Given the description of an element on the screen output the (x, y) to click on. 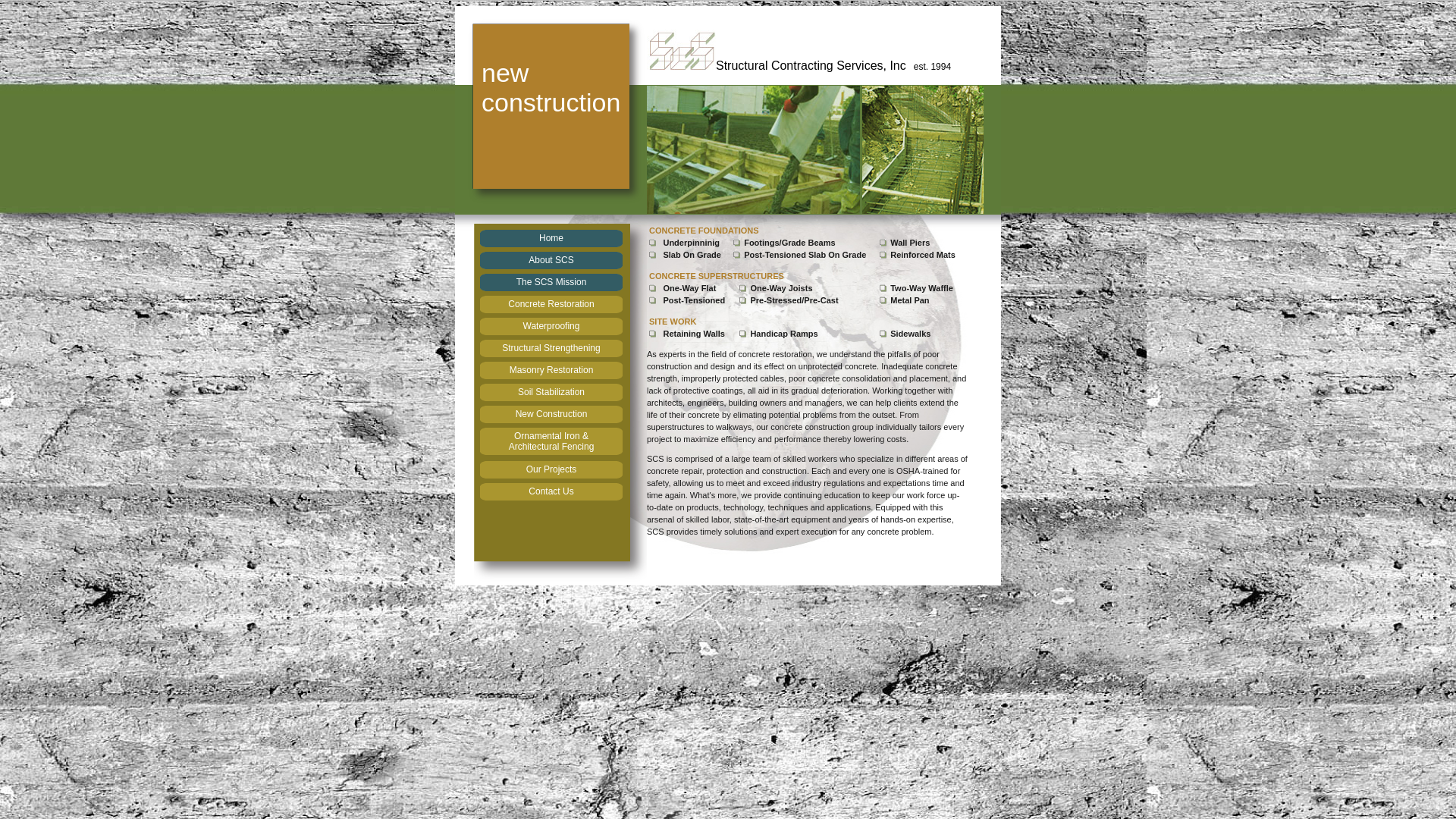
New Construction Element type: text (551, 414)
About SCS Element type: text (551, 260)
Soil Stabilization Element type: text (551, 392)
Waterproofing Element type: text (551, 326)
Home Element type: text (551, 238)
Concrete Restoration Element type: text (551, 304)
Structural Strengthening Element type: text (551, 348)
The SCS Mission Element type: text (551, 282)
Ornamental Iron &
Architectural Fencing Element type: text (551, 442)
Contact Us Element type: text (551, 492)
Masonry Restoration Element type: text (551, 370)
Our Projects Element type: text (551, 470)
